Given the description of an element on the screen output the (x, y) to click on. 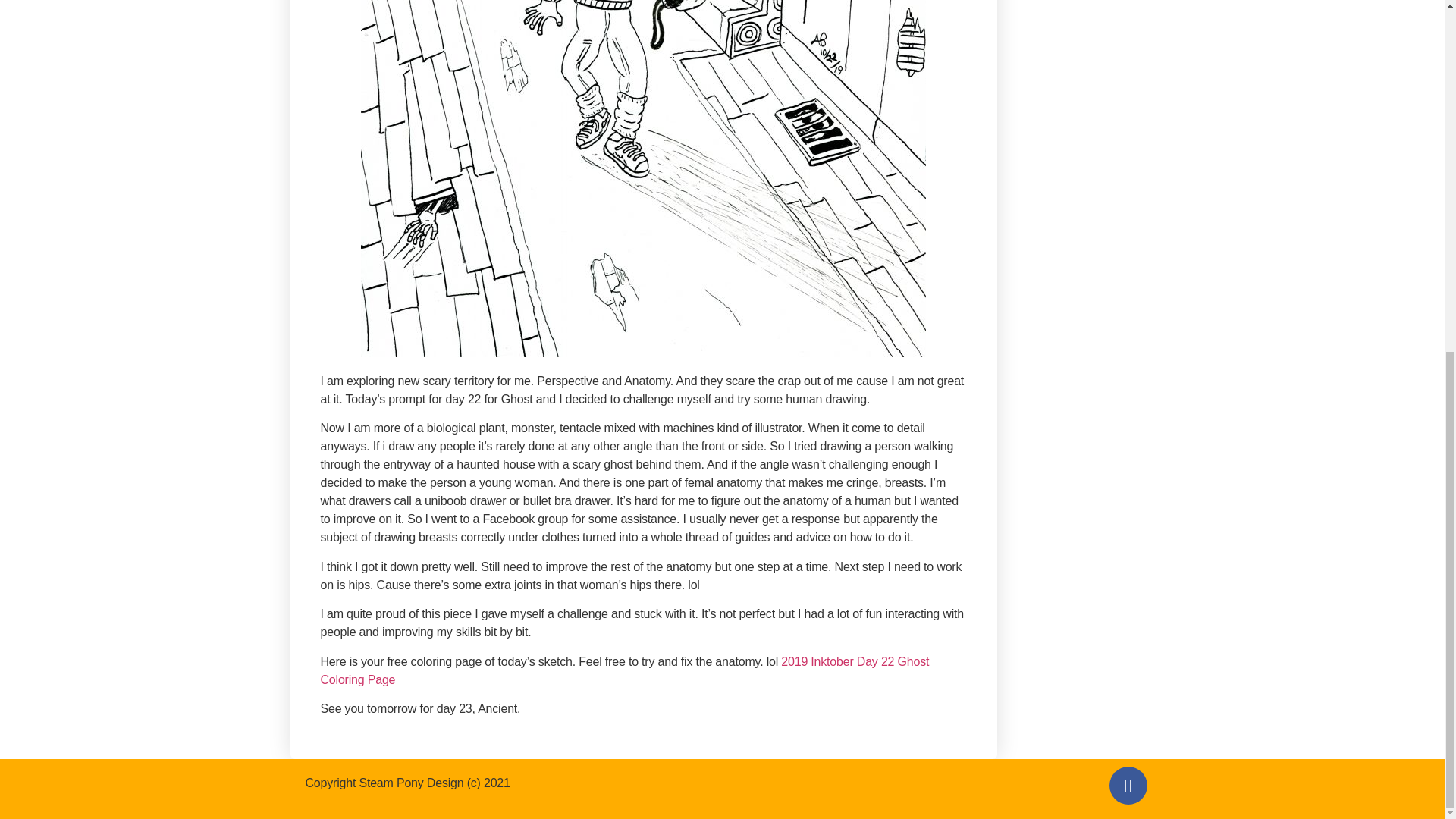
2019 Inktober Day 22 Ghost Coloring Page (624, 670)
